Given the description of an element on the screen output the (x, y) to click on. 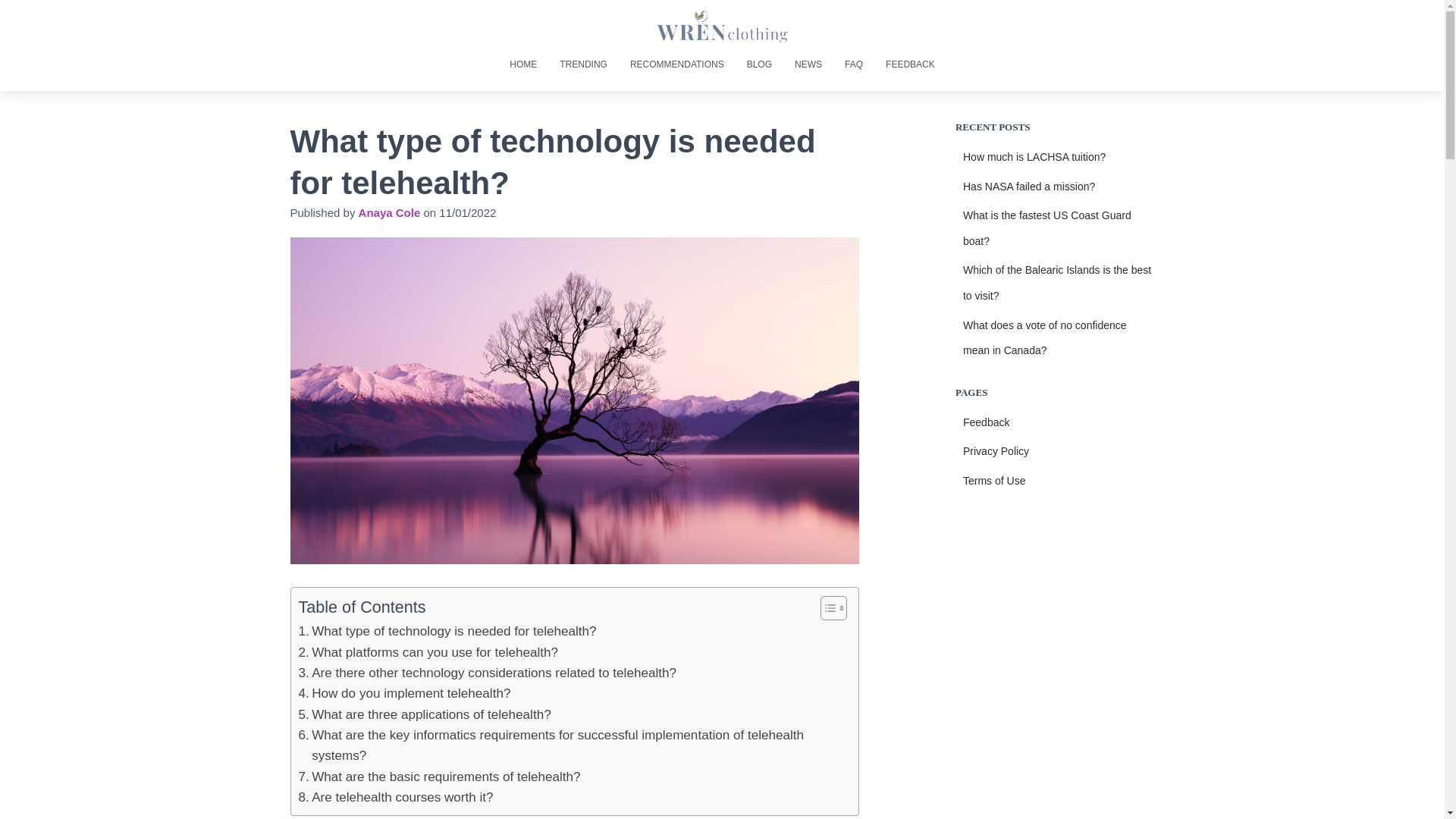
How do you implement telehealth? (404, 693)
Recommendations (676, 64)
Home (522, 64)
News (807, 64)
HOME (522, 64)
FAQ (853, 64)
Are telehealth courses worth it? (395, 797)
What are three applications of telehealth? (424, 714)
Which of the Balearic Islands is the best to visit? (1056, 282)
